Given the description of an element on the screen output the (x, y) to click on. 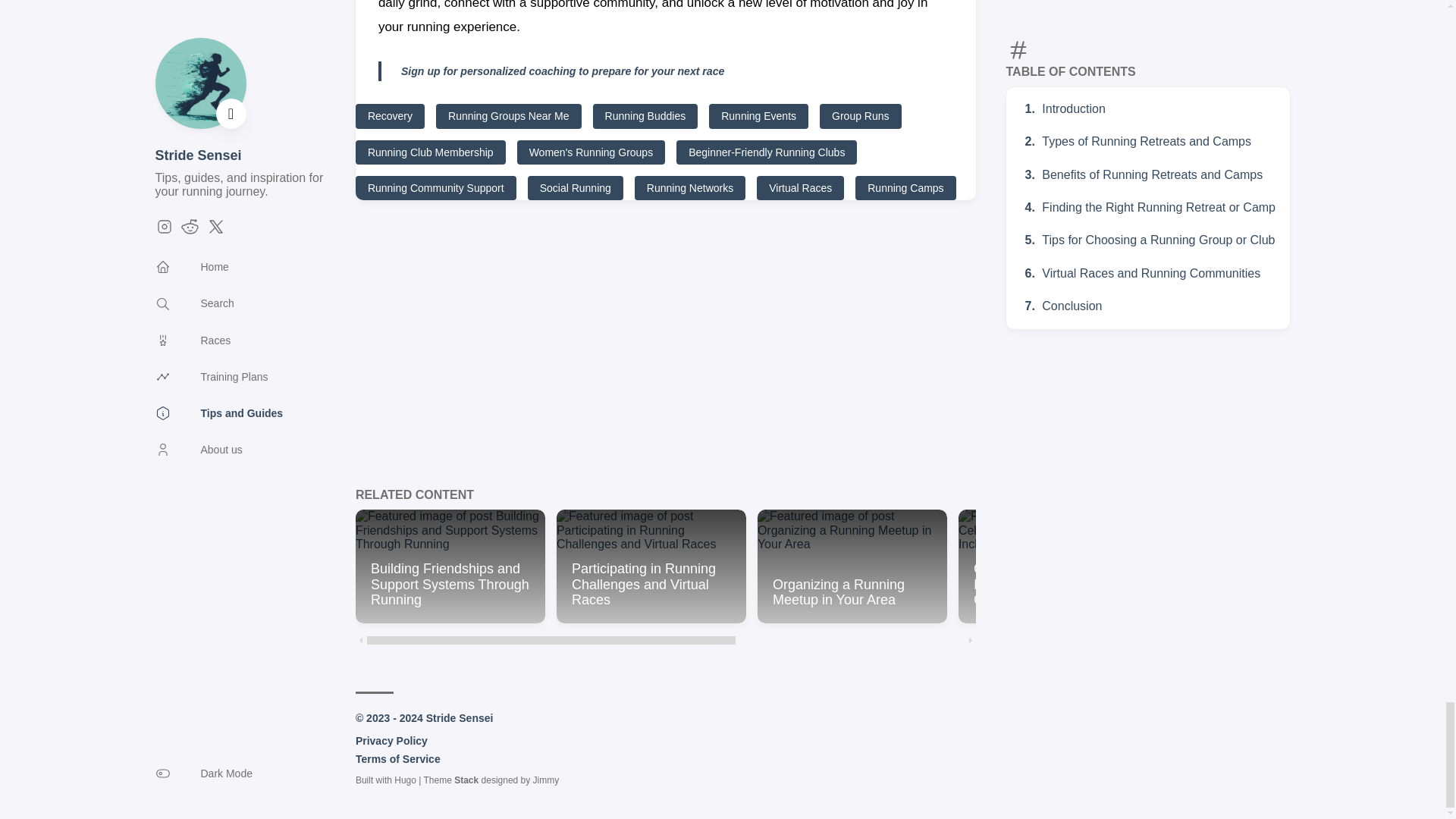
Women's Running Groups (590, 152)
Building Friendships and Support Systems Through Running (449, 566)
Running Networks (689, 187)
Organizing a Running Meetup in Your Area (852, 566)
Beginner-Friendly Running Clubs (767, 152)
Running Camps (905, 187)
Social Running (575, 187)
Running Groups Near Me (507, 115)
Running Events (758, 115)
Virtual Races (800, 187)
